Given the description of an element on the screen output the (x, y) to click on. 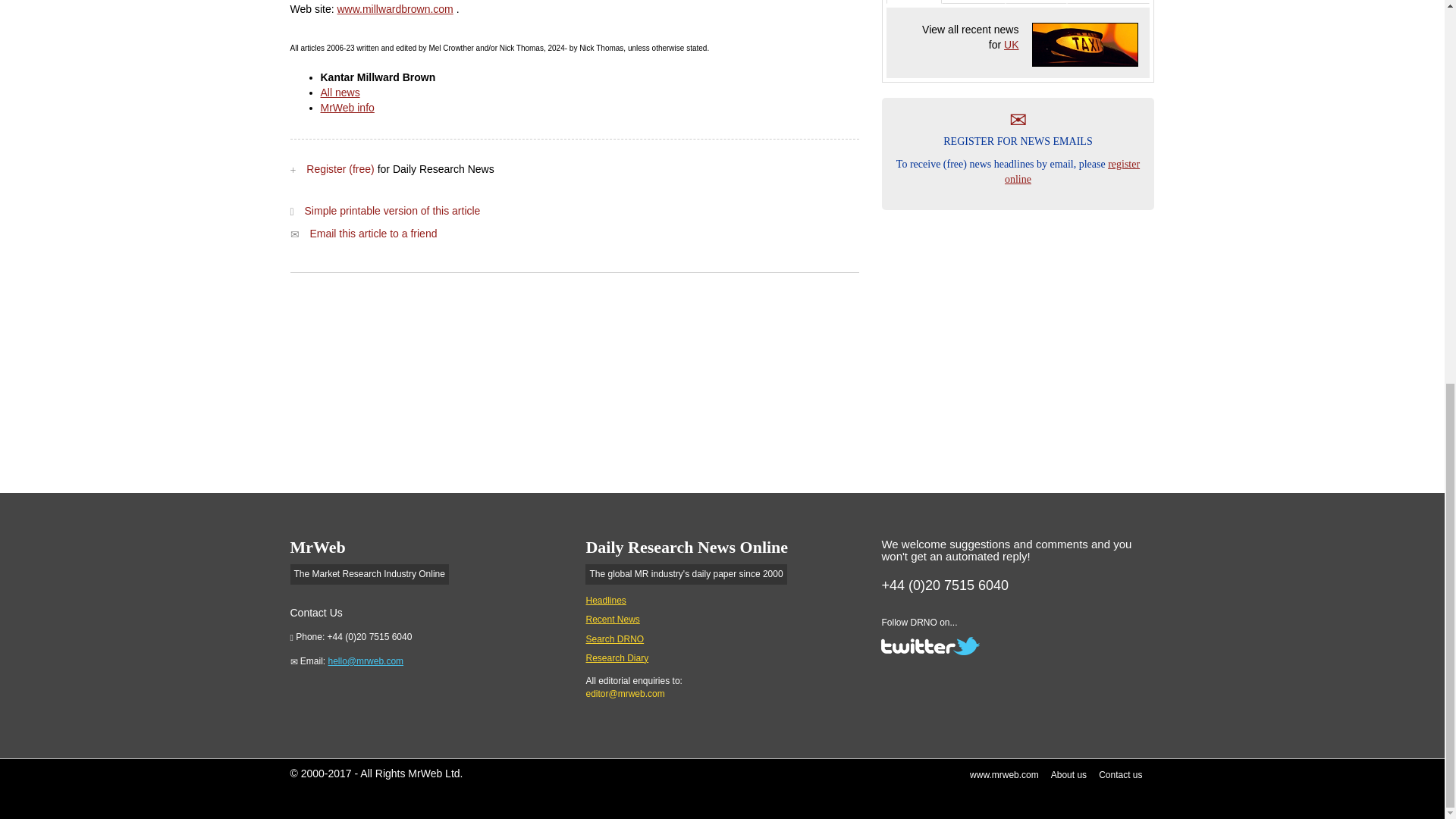
UK (1085, 44)
Simple printable version of this article (392, 210)
MrWeb info (347, 107)
Asia (1036, 2)
UK (1010, 44)
USA (973, 2)
Recent News (612, 619)
Headlines (605, 600)
UK (913, 2)
Australia (1108, 2)
All news (339, 92)
Email this article to a friend (372, 233)
register online (1072, 171)
www.millwardbrown.com (394, 9)
